Given the description of an element on the screen output the (x, y) to click on. 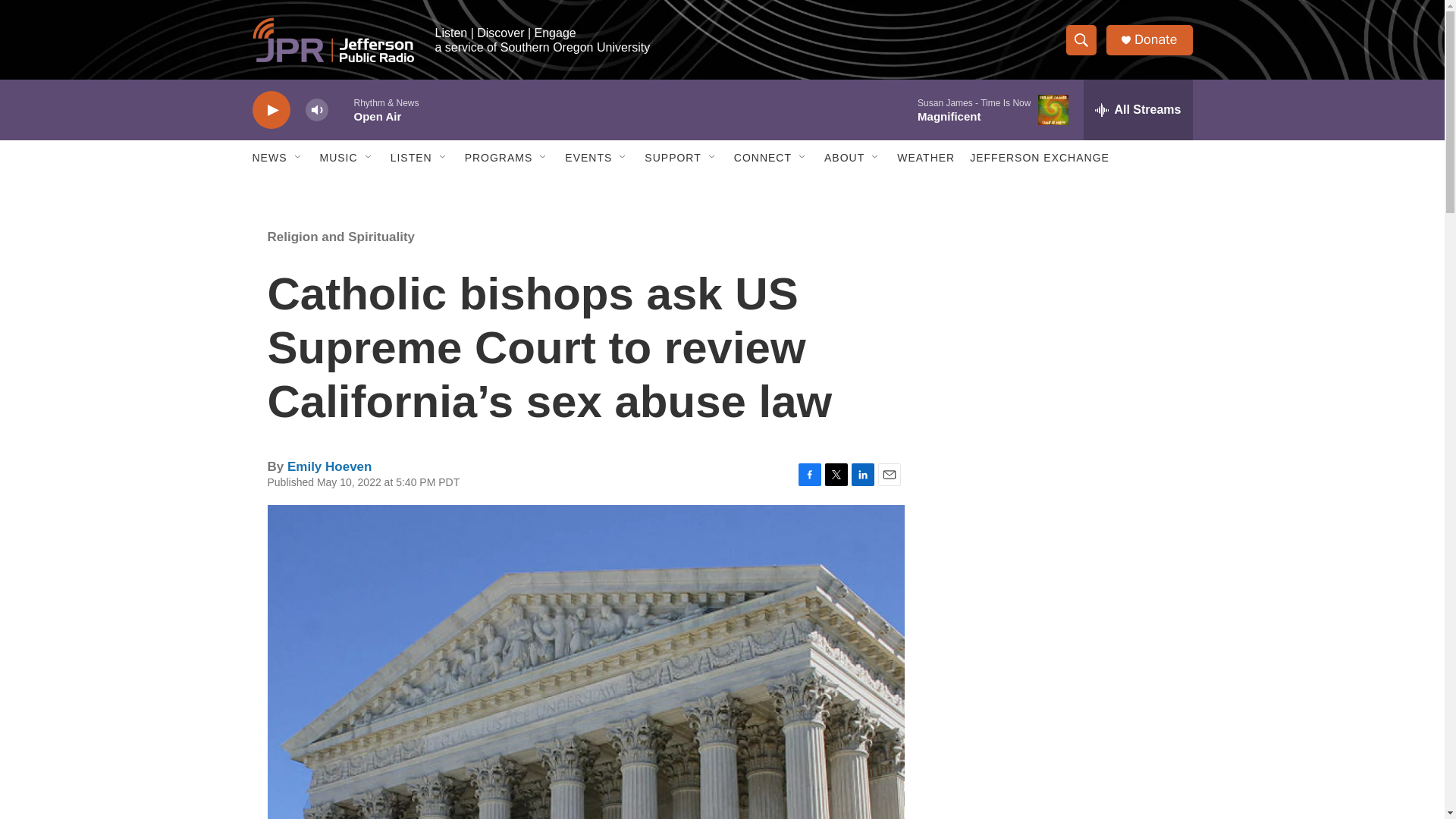
3rd party ad content (1062, 536)
3rd party ad content (1062, 740)
3rd party ad content (1062, 316)
